Given the description of an element on the screen output the (x, y) to click on. 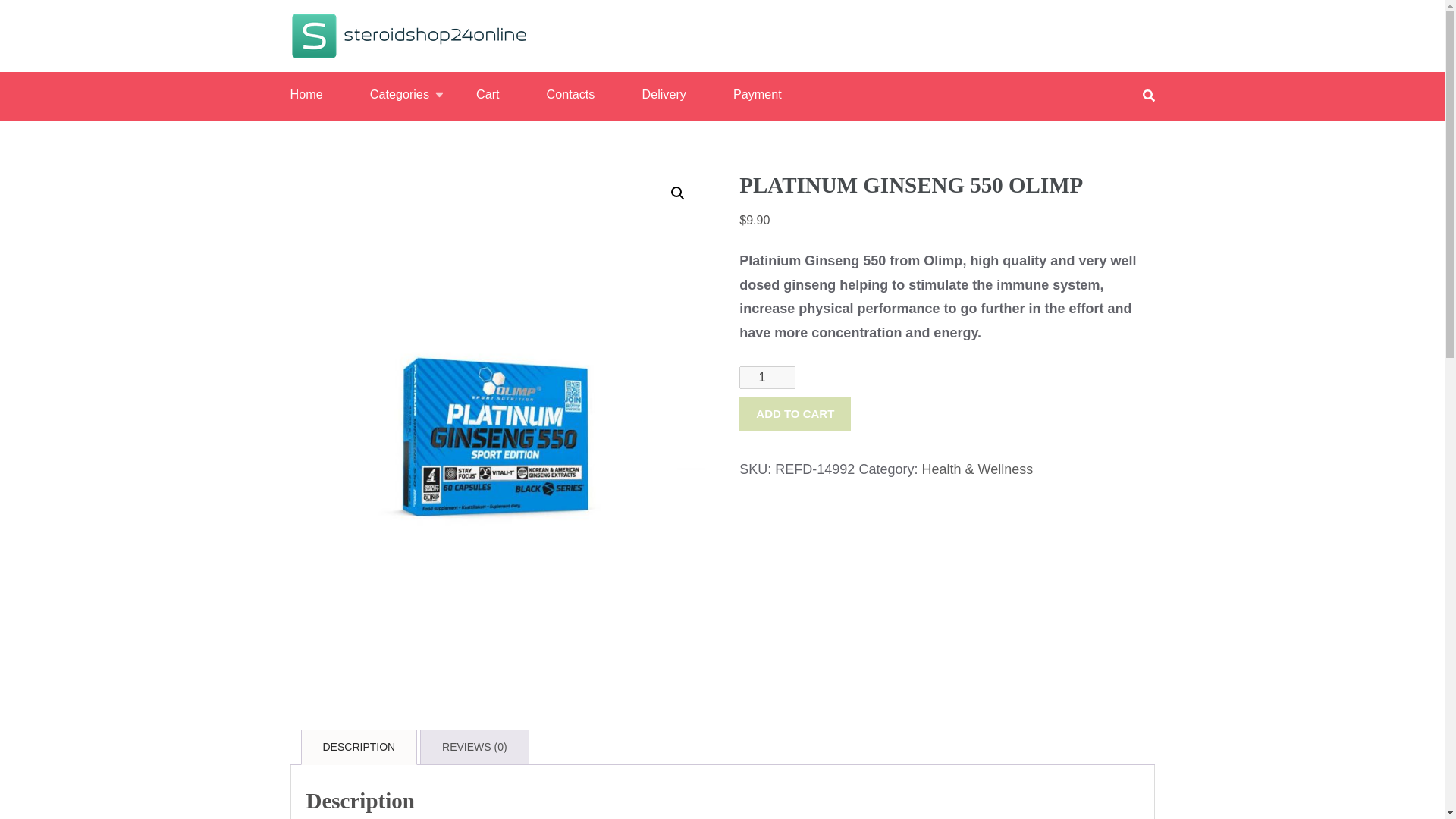
Categories (399, 94)
Delivery (663, 94)
Payment (757, 94)
Contacts (571, 94)
1 (766, 377)
